Given the description of an element on the screen output the (x, y) to click on. 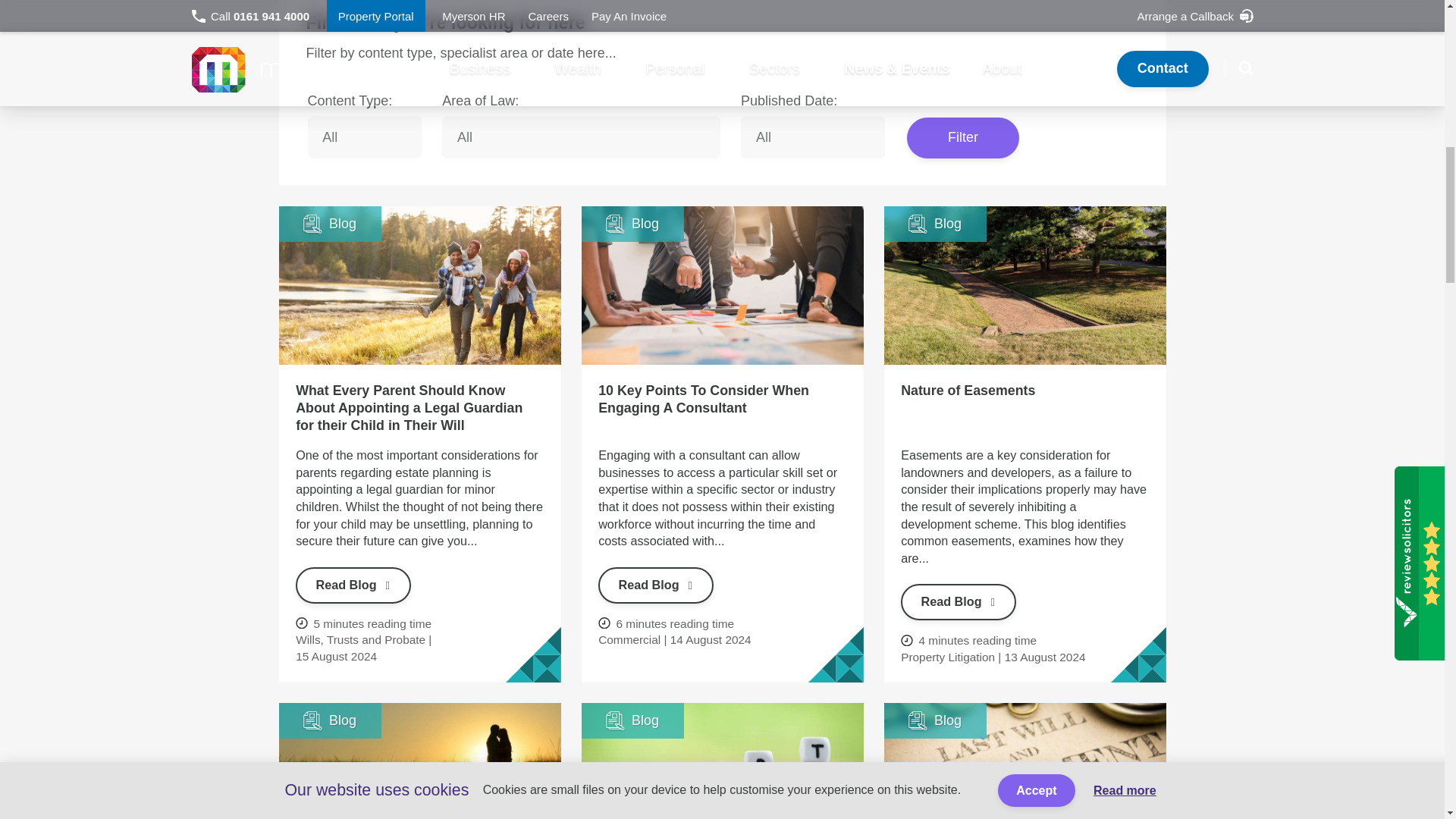
Read Blog (958, 601)
Blog (419, 760)
Blog (1024, 285)
Nature of Easements (968, 390)
Read Blog (352, 585)
Blog (419, 285)
Read Blog (655, 585)
Filter (963, 137)
10 Key Points To Consider When Engaging A Consultant (703, 399)
